Given the description of an element on the screen output the (x, y) to click on. 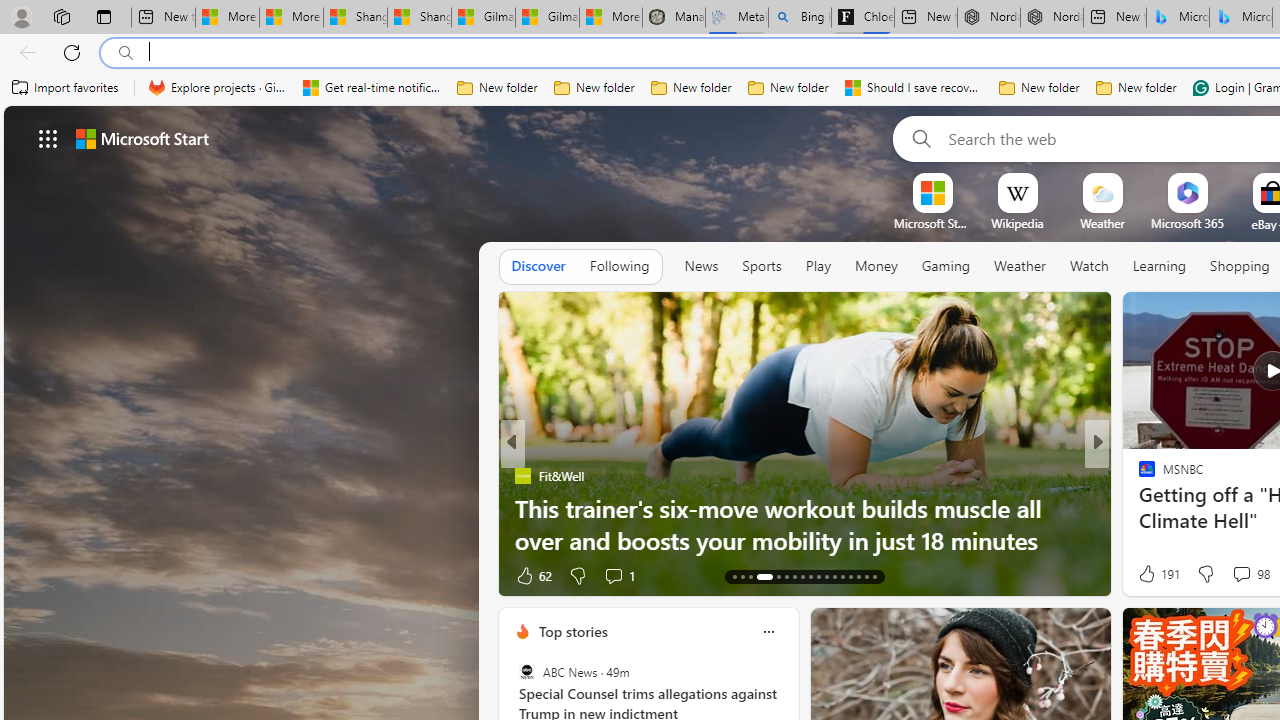
Nostalgic Buzz (1138, 475)
View comments 4 Comment (1234, 574)
AutomationID: tab-16 (759, 576)
2 Like (1145, 574)
PsychLove (1138, 475)
FamilyProof (1138, 475)
152 Like (1151, 574)
Chloe Sorvino (862, 17)
View comments 7 Comment (1229, 575)
AutomationID: tab-22 (818, 576)
AutomationID: tab-26 (850, 576)
